Given the description of an element on the screen output the (x, y) to click on. 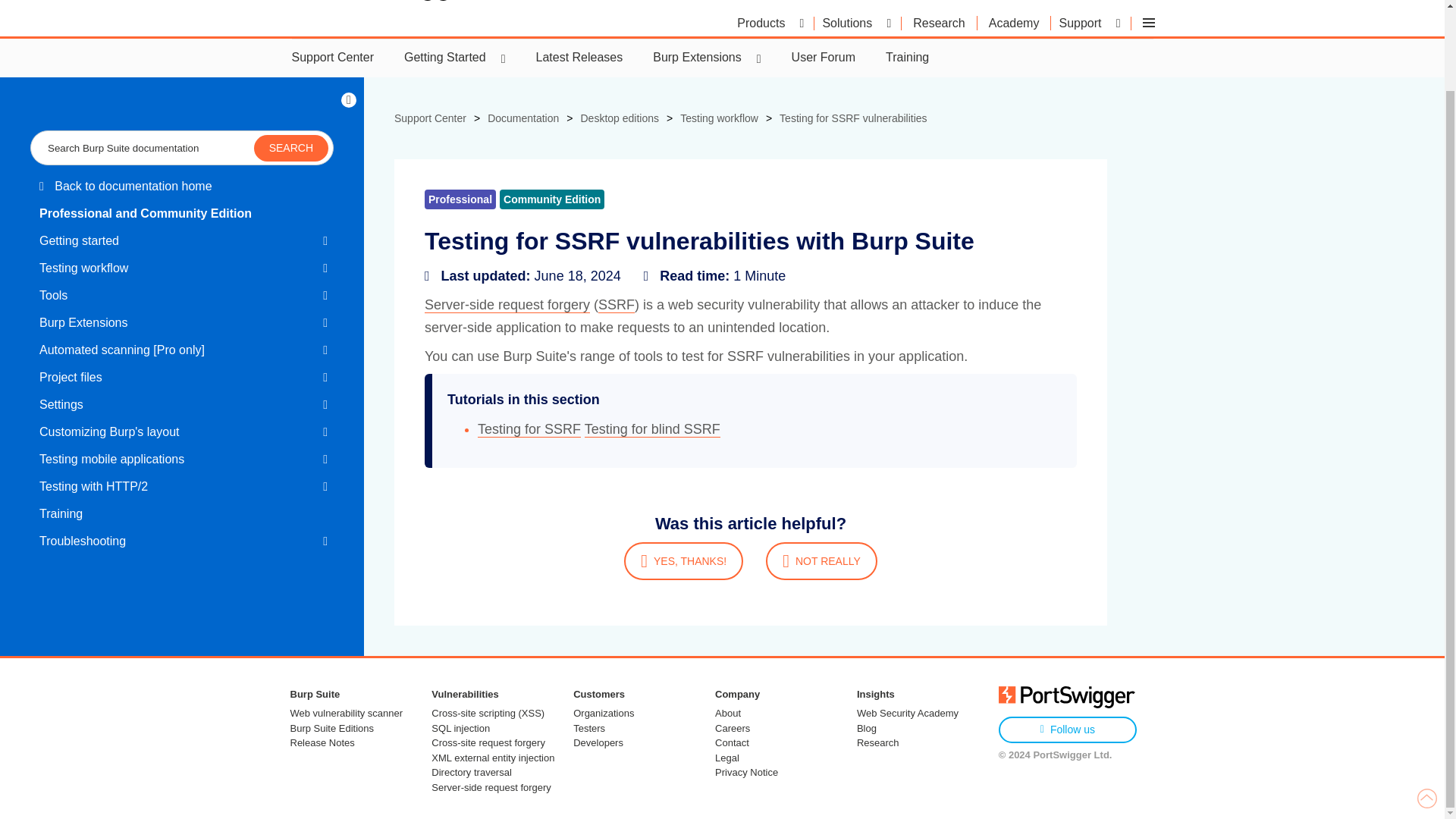
Academy (1013, 22)
Research (938, 22)
